Given the description of an element on the screen output the (x, y) to click on. 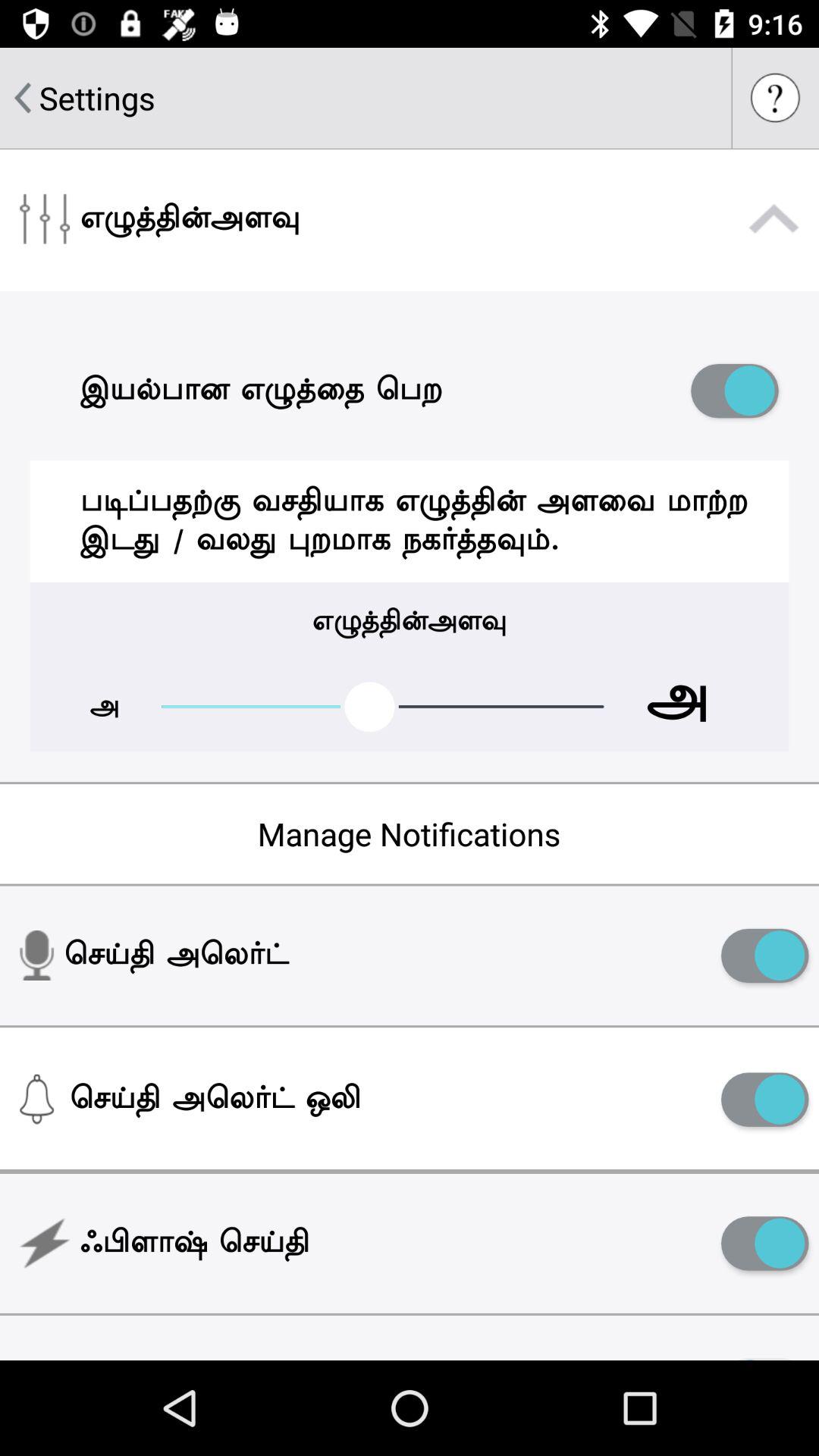
collapse settings (774, 219)
